Given the description of an element on the screen output the (x, y) to click on. 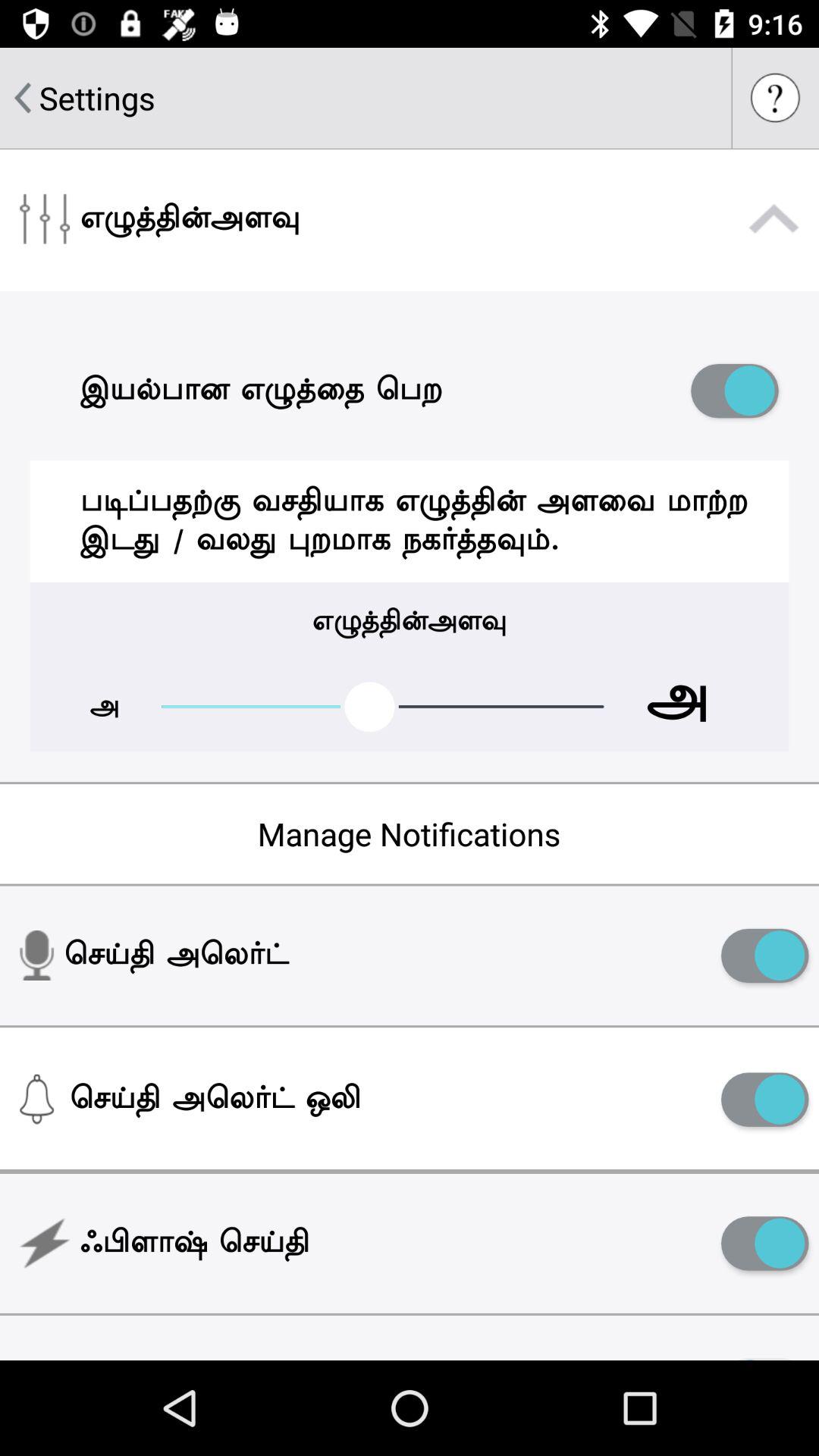
collapse settings (774, 219)
